Given the description of an element on the screen output the (x, y) to click on. 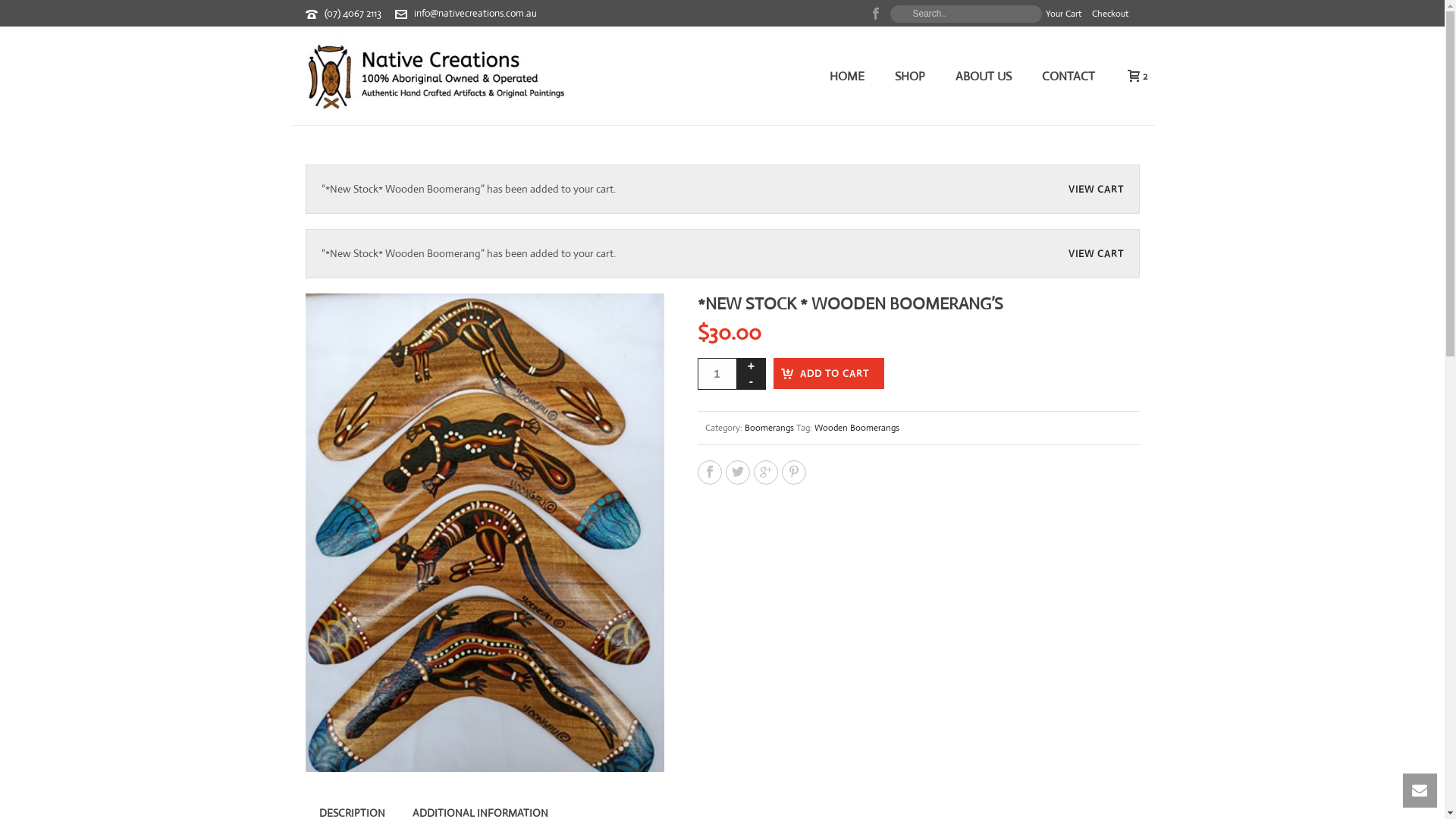
(07) 4067 2113 Element type: text (352, 12)
Qty Element type: hover (717, 373)
Checkout Element type: text (1109, 13)
VIEW CART Element type: text (1095, 253)
info@nativecreations.com.au Element type: text (475, 12)
Authentic Hand Crafted Aboriginal Artifacts & Paintings Element type: hover (435, 75)
VIEW CART Element type: text (1095, 188)
ABOUT US Element type: text (983, 76)
SHOP Element type: text (909, 76)
2 Element type: text (1132, 75)
ADD TO CART Element type: text (828, 373)
img20210224132028 Element type: hover (483, 532)
CONTACT Element type: text (1068, 76)
Wooden Boomerangs Element type: text (856, 427)
HOME Element type: text (846, 76)
Boomerangs Element type: text (768, 427)
Your Cart Element type: text (1063, 13)
